Given the description of an element on the screen output the (x, y) to click on. 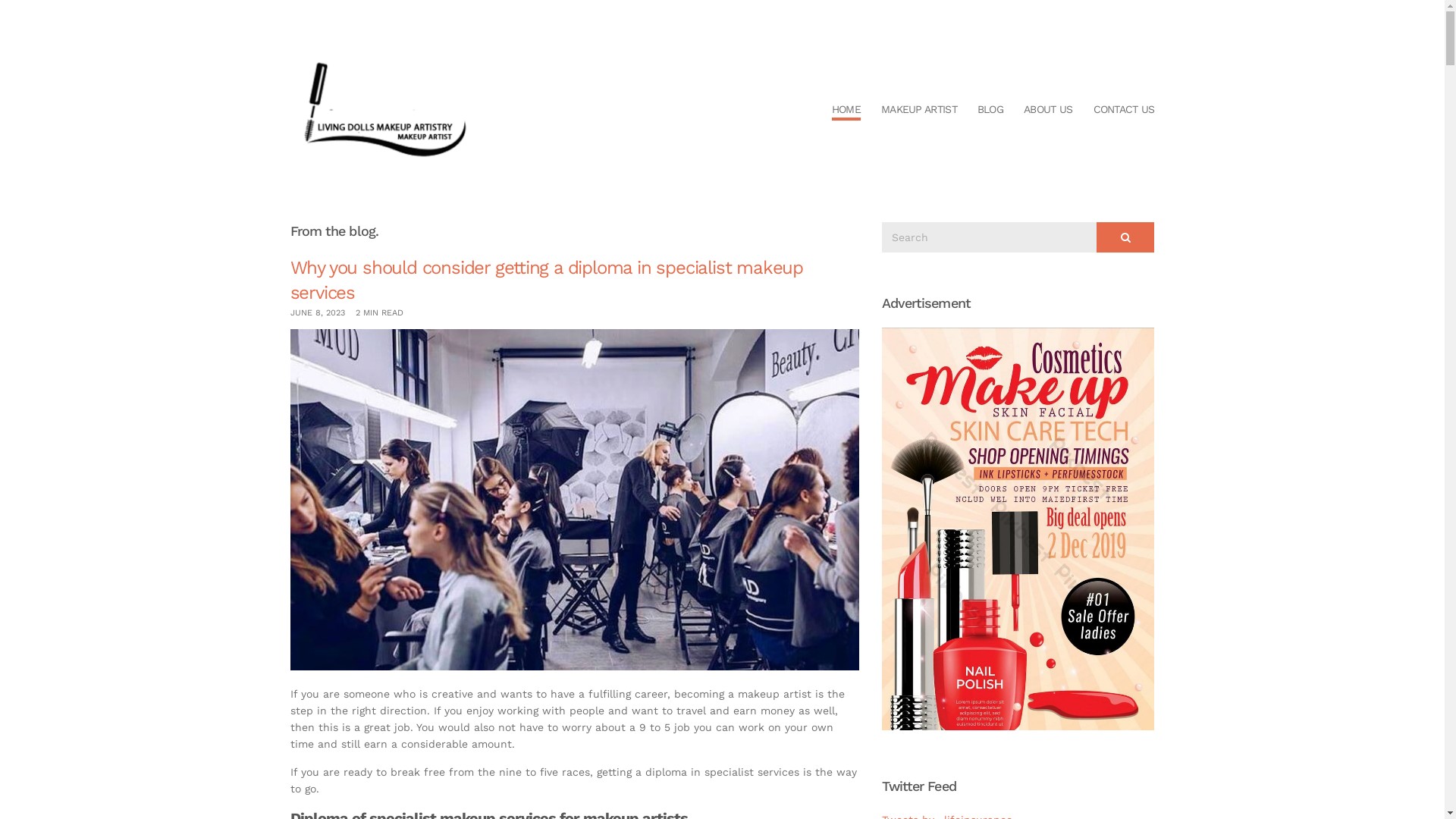
CONTACT US Element type: text (1123, 110)
HOME Element type: text (845, 110)
BLOG Element type: text (990, 110)
Search Element type: text (1125, 237)
ABOUT US Element type: text (1047, 110)
MAKEUP ARTIST Element type: text (919, 110)
